Given the description of an element on the screen output the (x, y) to click on. 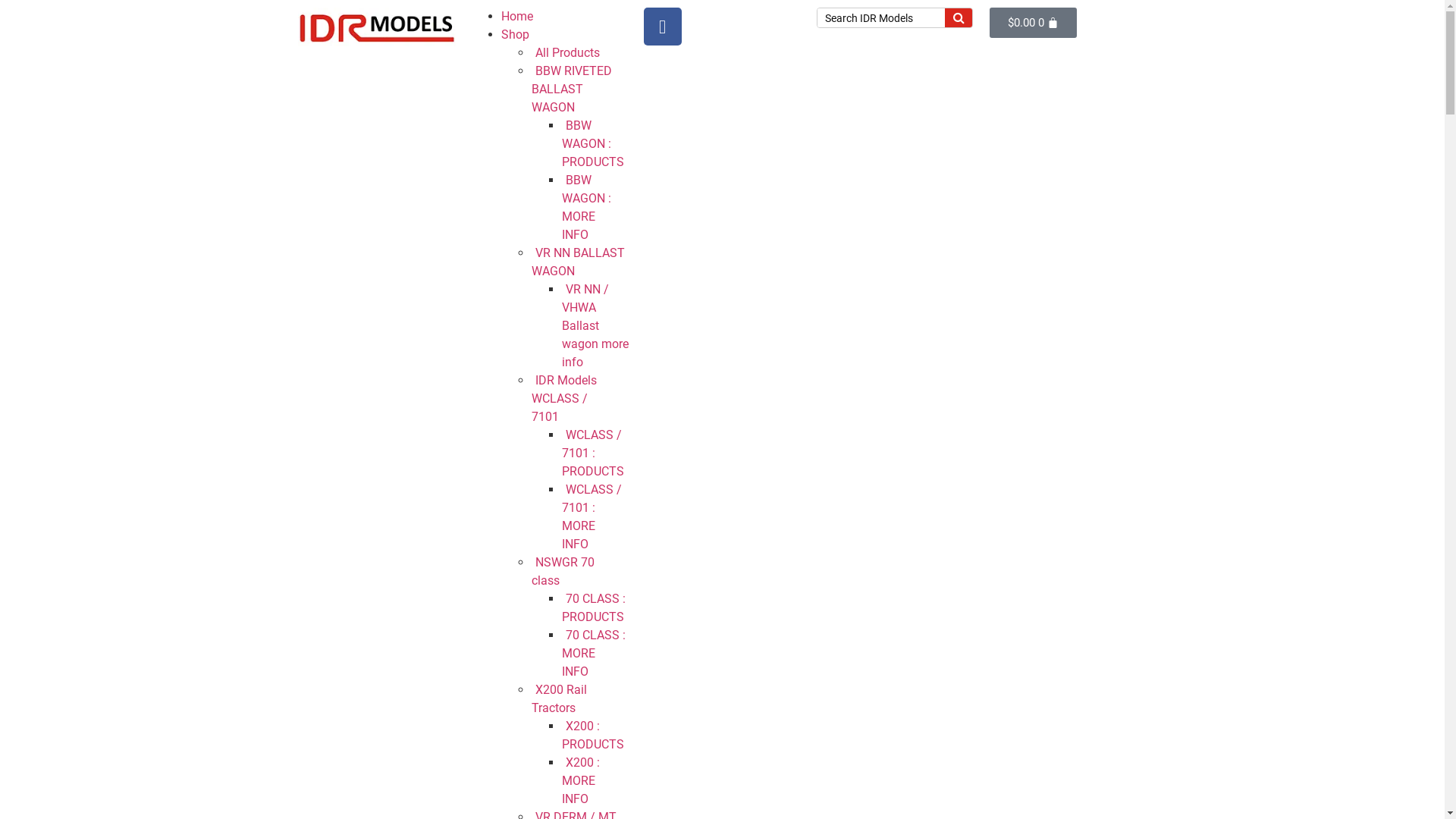
VR NN / VHWA Ballast wagon more info Element type: text (594, 325)
$0.00 0 Element type: text (1032, 22)
WCLASS / 7101 : MORE INFO Element type: text (591, 516)
BBW RIVETED BALLAST WAGON Element type: text (570, 89)
NSWGR 70 class Element type: text (561, 571)
70 CLASS : PRODUCTS Element type: text (597, 607)
Home Element type: text (516, 16)
Shop Element type: text (514, 34)
X200 Rail Tractors Element type: text (558, 698)
70 CLASS : MORE INFO Element type: text (592, 653)
WCLASS / 7101 : PRODUCTS Element type: text (597, 453)
X200 : MORE INFO Element type: text (580, 780)
BBW WAGON : PRODUCTS Element type: text (597, 143)
IDR Models WCLASS / 7101 Element type: text (563, 398)
BBW WAGON : MORE INFO Element type: text (585, 207)
All Products Element type: text (570, 52)
VR NN BALLAST WAGON Element type: text (577, 261)
logo Element type: hover (376, 25)
X200 : PRODUCTS Element type: text (597, 735)
